Given the description of an element on the screen output the (x, y) to click on. 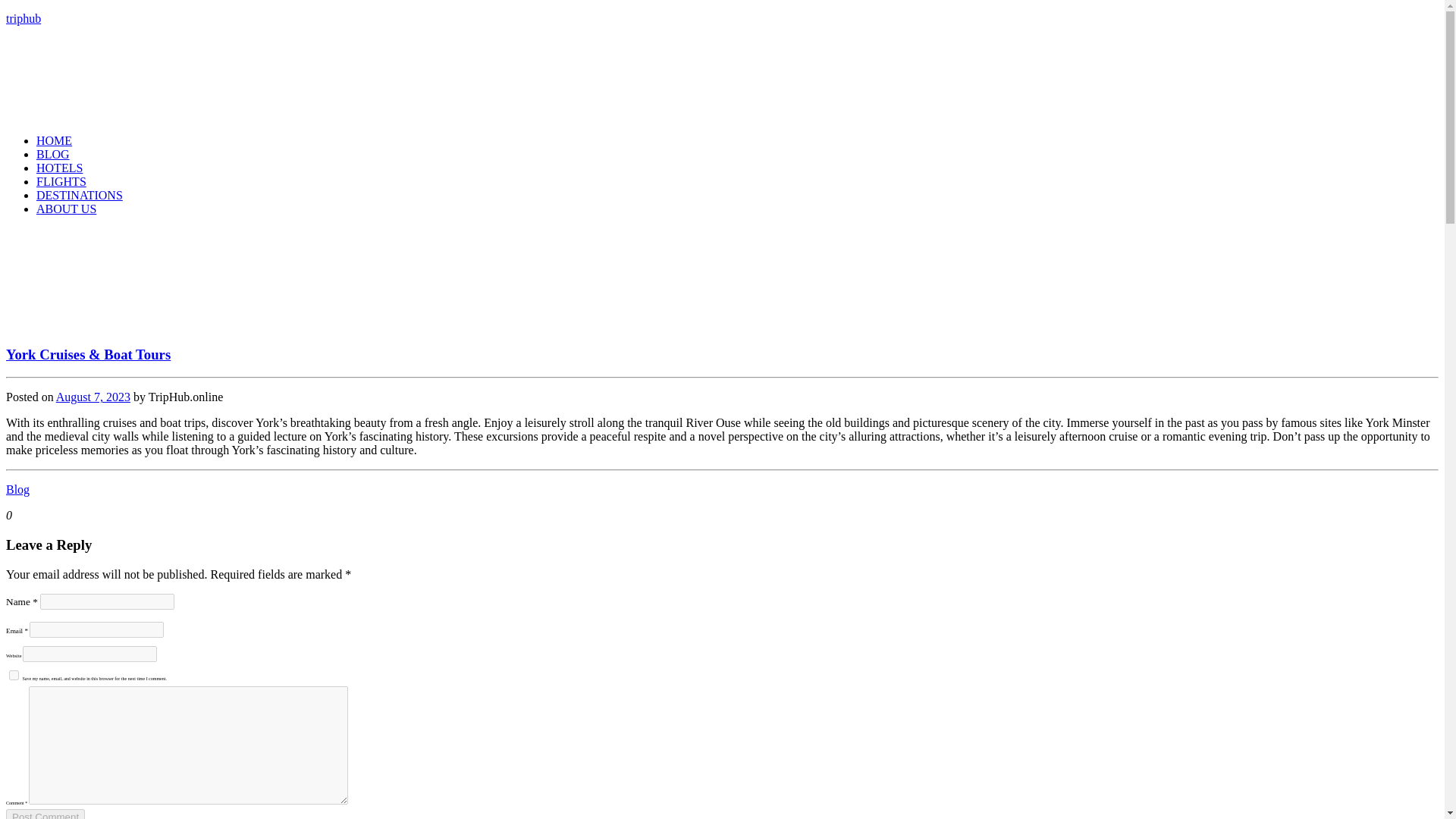
HOTELS (59, 167)
triphub (22, 18)
Blog (17, 489)
triphub (22, 18)
yes (13, 675)
Post Comment (44, 814)
HOME (53, 140)
August 7, 2023 (93, 396)
FLIGHTS (60, 181)
Post Comment (44, 814)
